Given the description of an element on the screen output the (x, y) to click on. 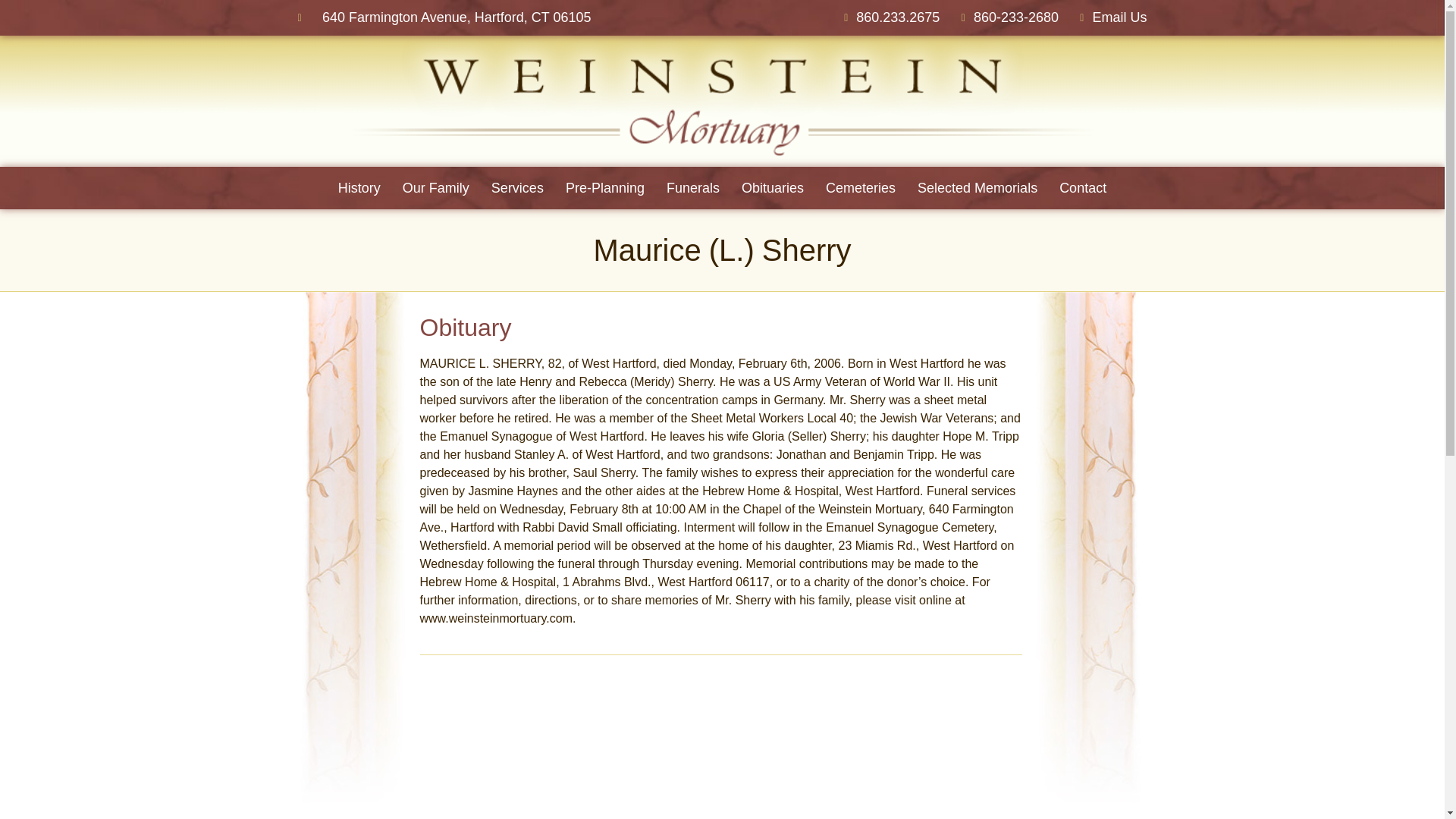
Pre-Planning (605, 187)
Obituaries (772, 187)
Funerals (692, 187)
Email Us (1108, 17)
Services (517, 187)
640 Farmington Avenue, Hartford, CT 06105 (444, 17)
Contact (1082, 187)
860.233.2675 (887, 17)
Cemeteries (860, 187)
History (358, 187)
Our Family (435, 187)
Selected Memorials (976, 187)
